Given the description of an element on the screen output the (x, y) to click on. 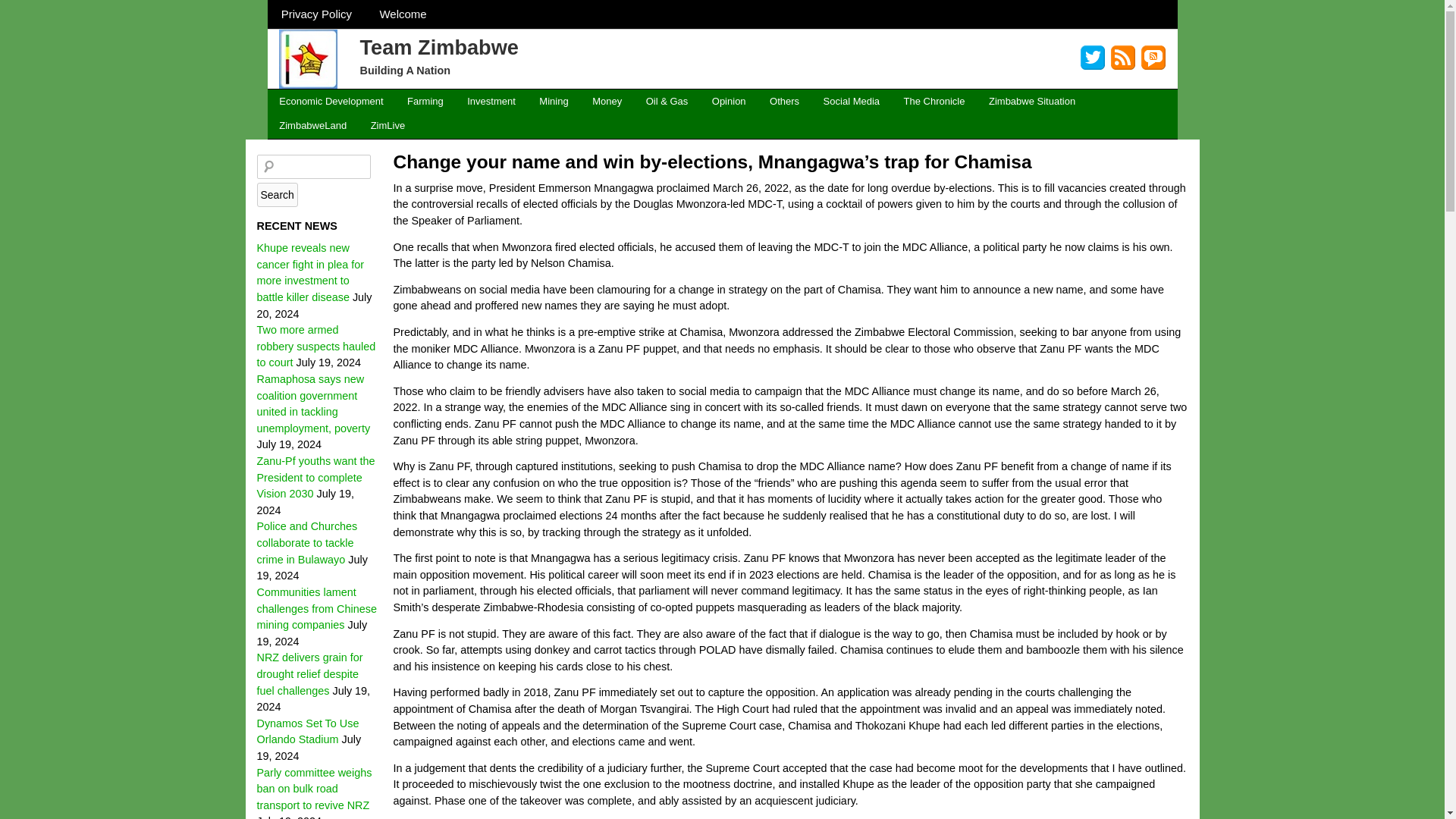
Police and Churches collaborate to tackle crime in Bulawayo (306, 542)
Zanu-Pf youths want the President to complete Vision 2030 (315, 477)
Search (276, 193)
ZimbabweLand (312, 125)
Farming (424, 101)
Social Media (850, 101)
Two more armed robbery suspects hauled to court (315, 345)
Mining (553, 101)
Zimbabwe Situation (1031, 101)
ZimLive (387, 125)
Privacy Policy (315, 14)
Search (276, 193)
Team Zimbabwe (438, 46)
